Given the description of an element on the screen output the (x, y) to click on. 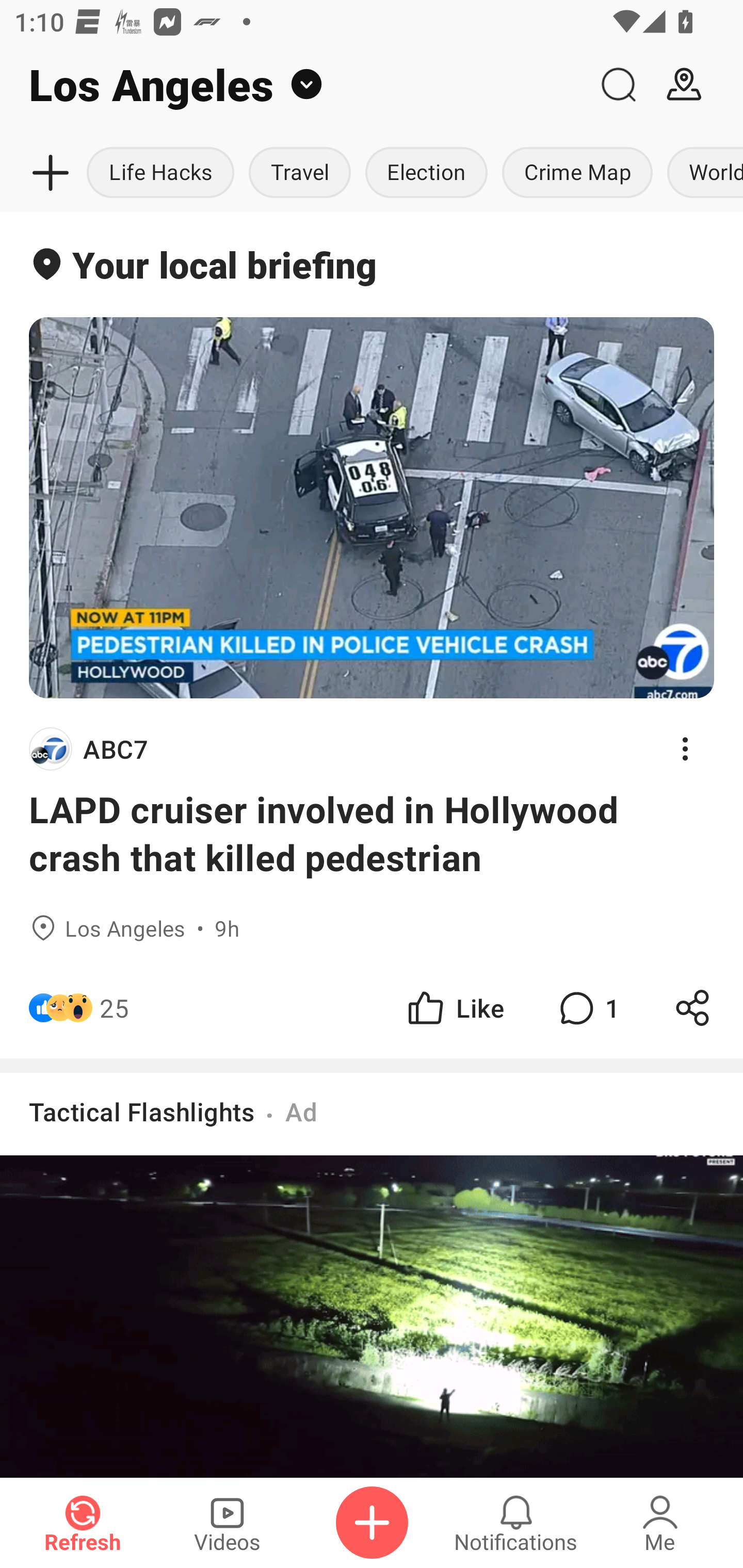
Los Angeles (292, 84)
Life Hacks (163, 172)
Travel (299, 172)
Election (426, 172)
Crime Map (576, 172)
25 (114, 1007)
Like (454, 1007)
1 (587, 1007)
Tactical Flashlights (141, 1111)
Videos (227, 1522)
Notifications (516, 1522)
Me (659, 1522)
